Given the description of an element on the screen output the (x, y) to click on. 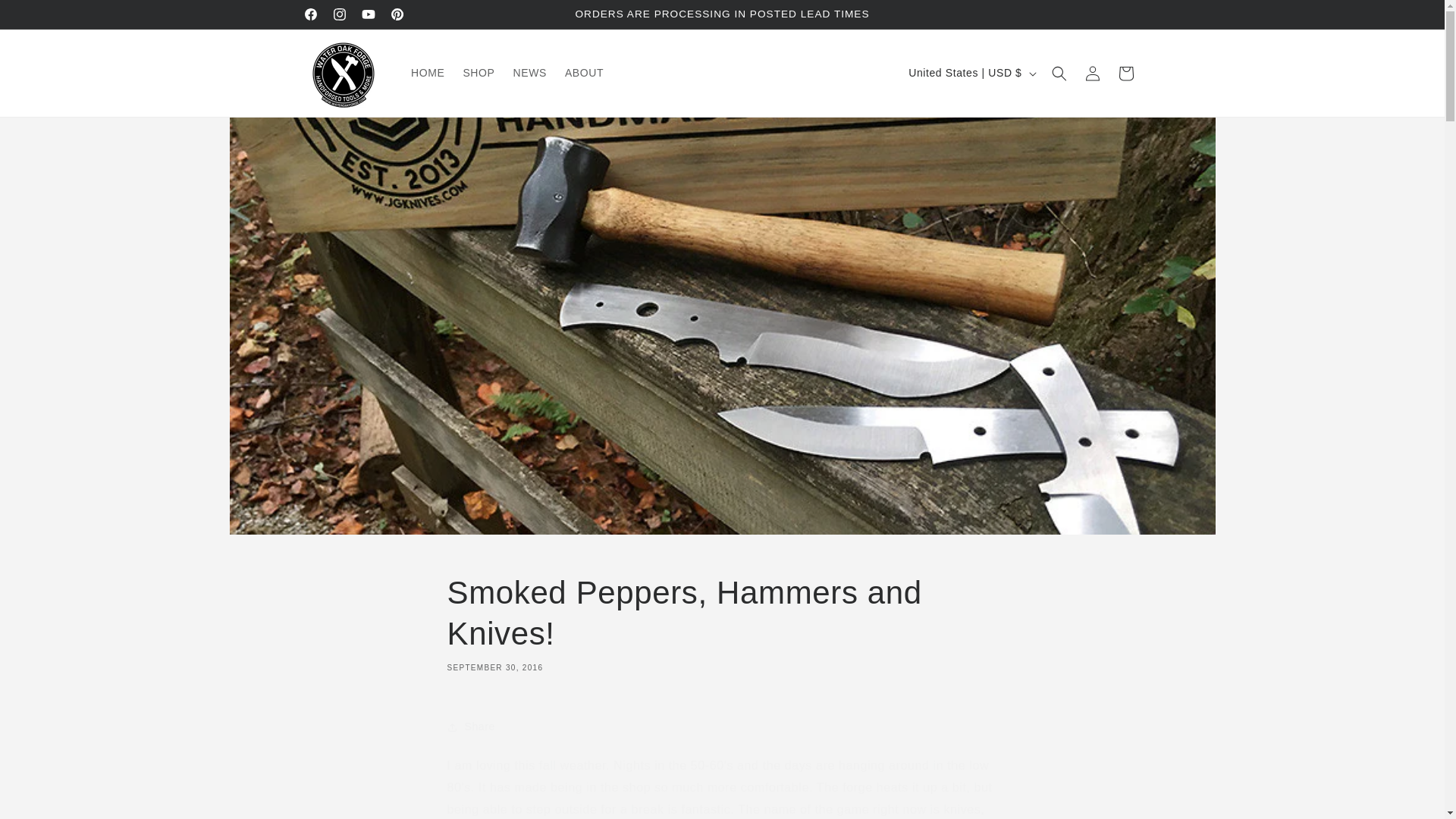
YouTube (367, 14)
ABOUT (584, 72)
Cart (1124, 72)
Pinterest (395, 14)
SHOP (477, 72)
Log in (1091, 72)
NEWS (721, 622)
HOME (528, 72)
Facebook (426, 72)
